Given the description of an element on the screen output the (x, y) to click on. 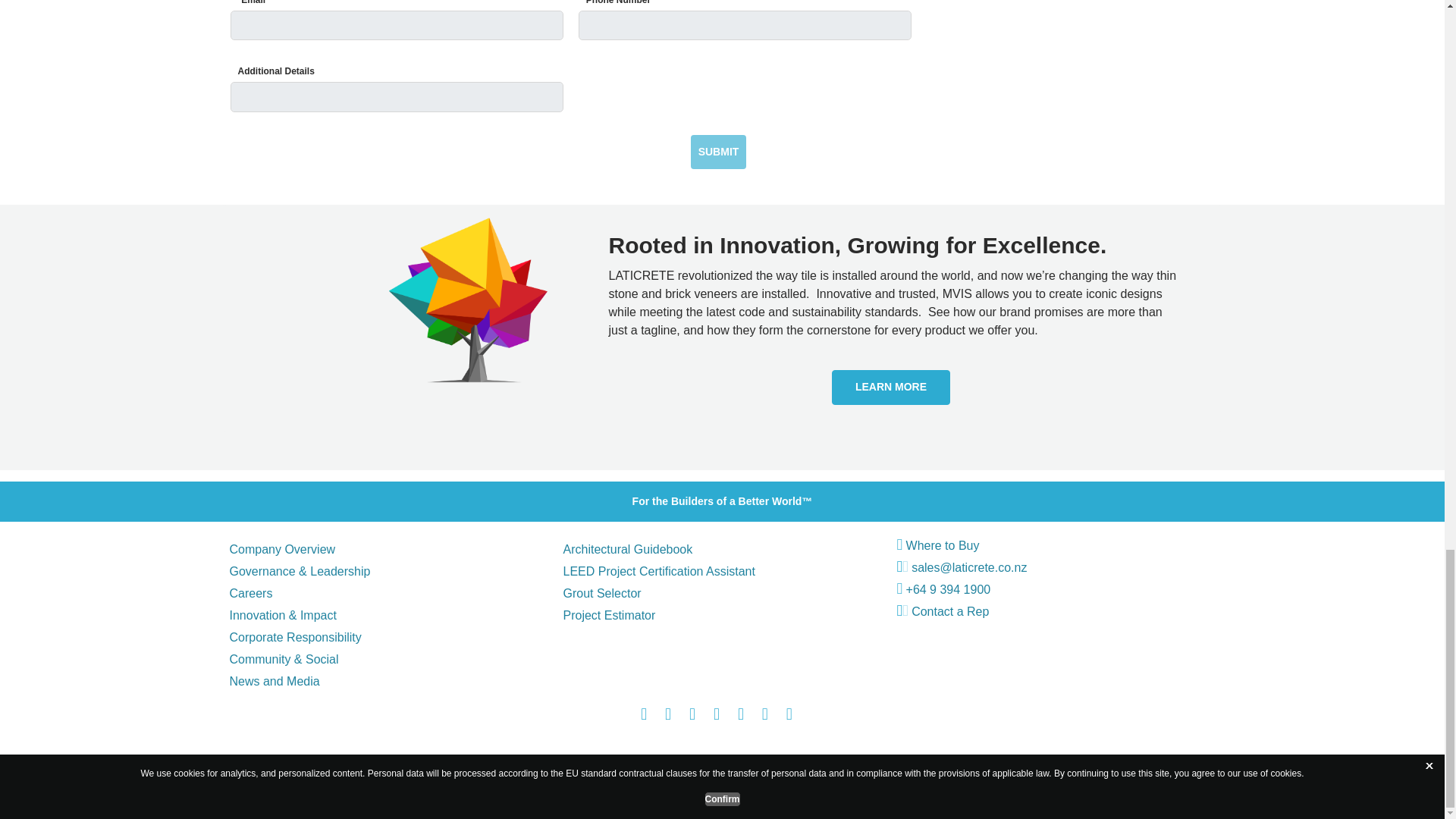
Facebook (643, 715)
Instagram (691, 715)
LinkedIn (741, 715)
Blog (764, 715)
Share (789, 715)
YouTube (716, 715)
Submit (718, 151)
Facebook Group (668, 715)
